Given the description of an element on the screen output the (x, y) to click on. 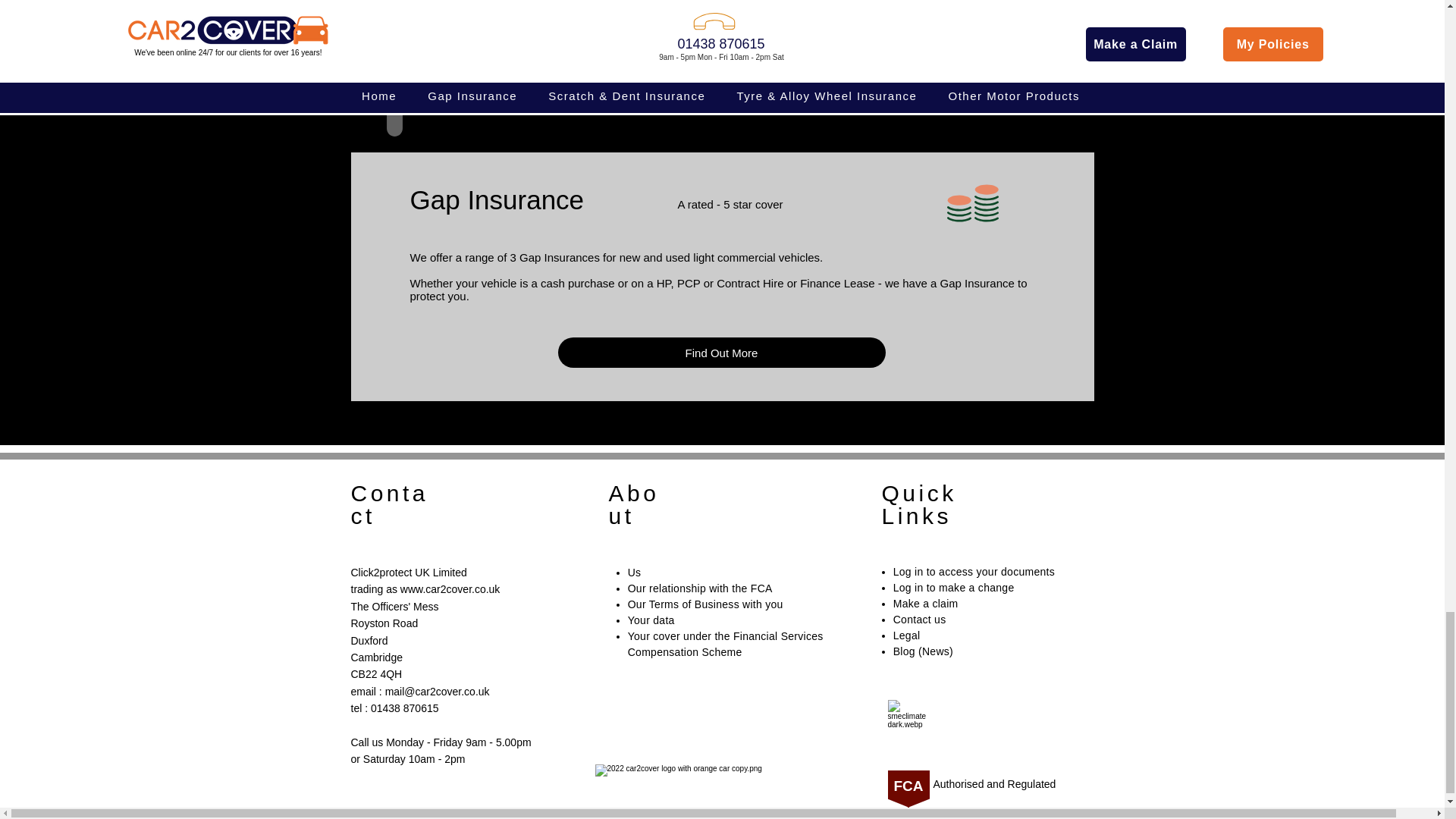
Us (634, 572)
Your data (651, 620)
www.car2cover.co.uk (448, 589)
Our Terms of Business with you (705, 604)
Your cover under the Financial Services Compensation Scheme (725, 643)
Contact us (919, 619)
Make a claim (925, 603)
Legal (906, 635)
Log in to access your documents (973, 571)
Find Out More (721, 352)
Call us Monday - Friday 9am - 5.00pm (440, 750)
01438 870615 (405, 707)
Log in to make a change (953, 587)
Our relationship with the FCA (700, 588)
